Given the description of an element on the screen output the (x, y) to click on. 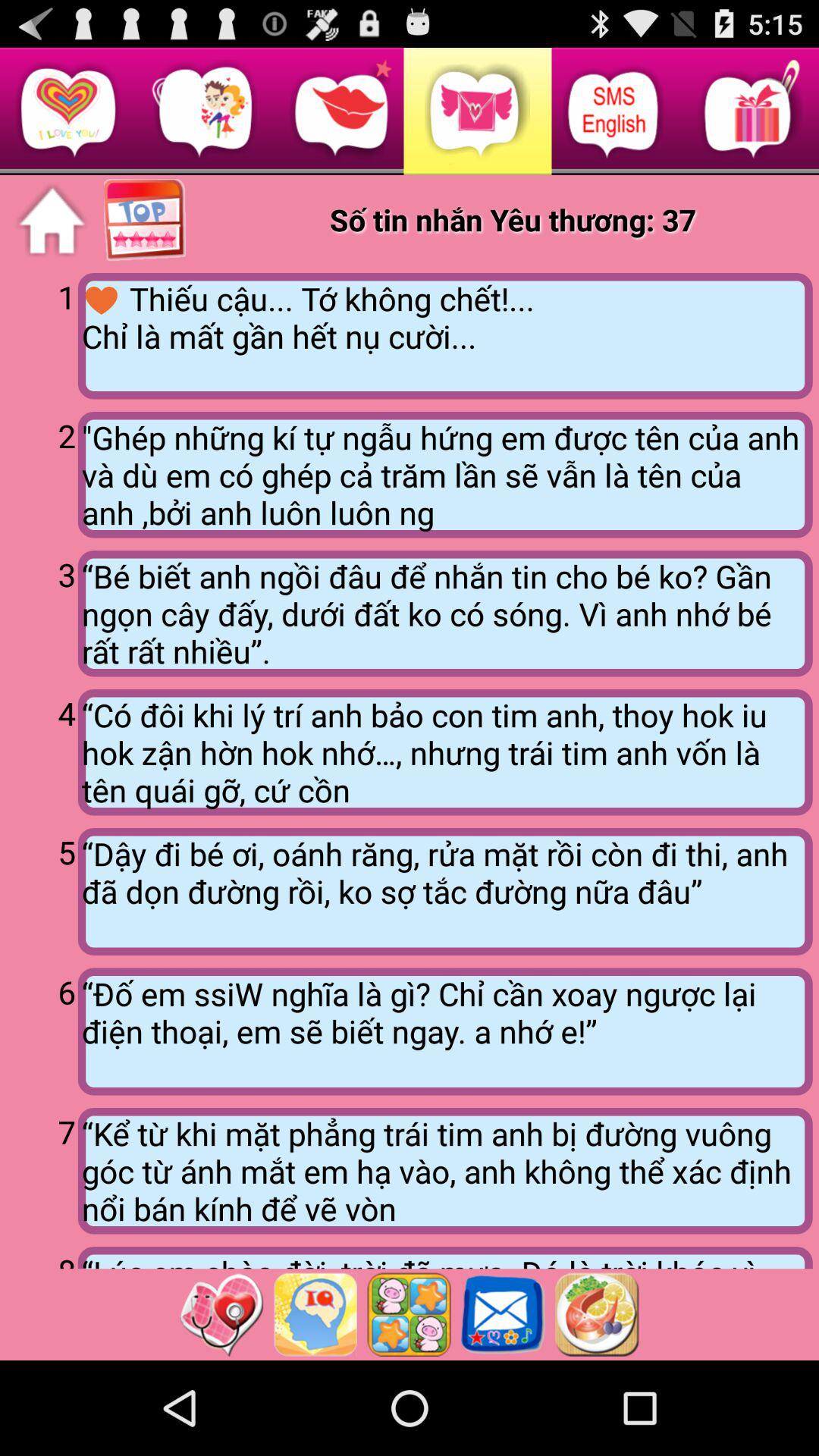
choose the item to the right of the 6 icon (444, 1031)
